Given the description of an element on the screen output the (x, y) to click on. 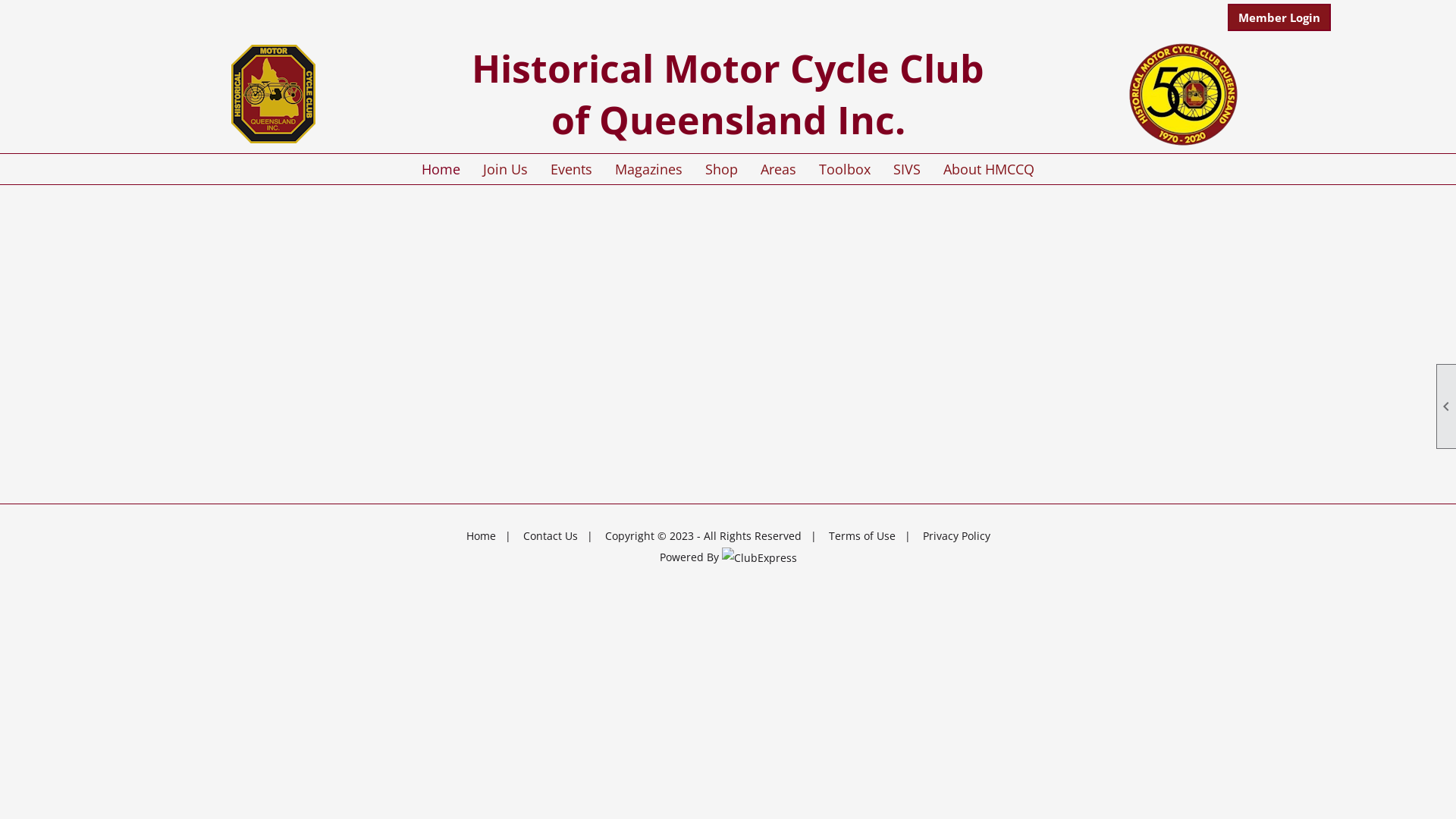
Home Element type: text (480, 535)
Contact Us Element type: text (550, 535)
Historical Motor Cycle Club Element type: text (727, 68)
Home Element type: text (440, 168)
of Queensland Inc. Element type: text (727, 119)
Member Login Element type: text (1278, 17)
Events Element type: text (570, 168)
Join Us Element type: text (505, 168)
Terms of Use Element type: text (861, 535)
Powered By  Element type: text (728, 556)
Privacy Policy Element type: text (955, 535)
